Given the description of an element on the screen output the (x, y) to click on. 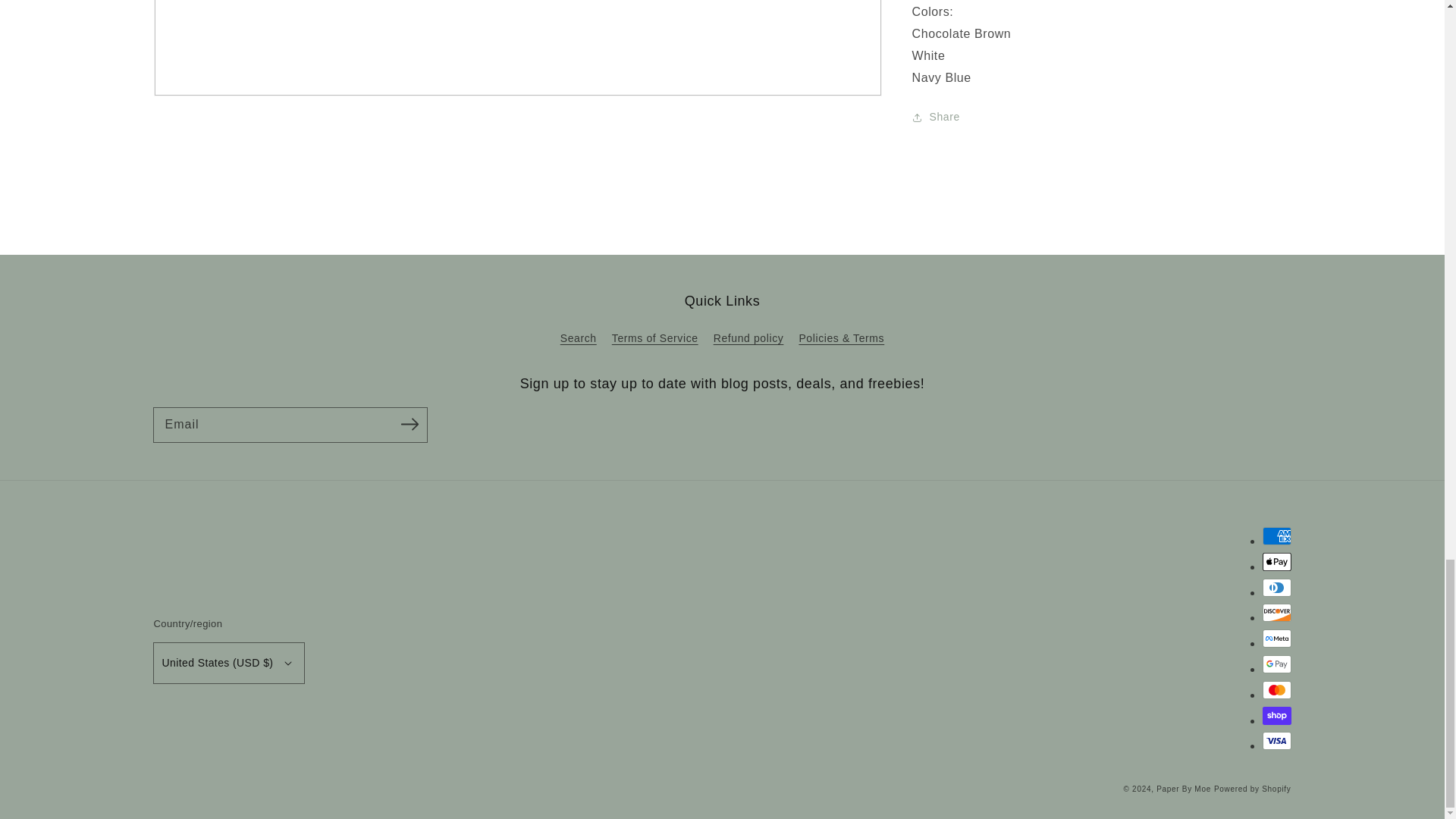
Apple Pay (1276, 561)
Mastercard (1276, 689)
Visa (1276, 741)
American Express (1276, 536)
Terms of Service (654, 338)
Discover (1276, 612)
Shop Pay (1276, 714)
Meta Pay (1276, 638)
Search (578, 340)
Diners Club (1276, 587)
